Given the description of an element on the screen output the (x, y) to click on. 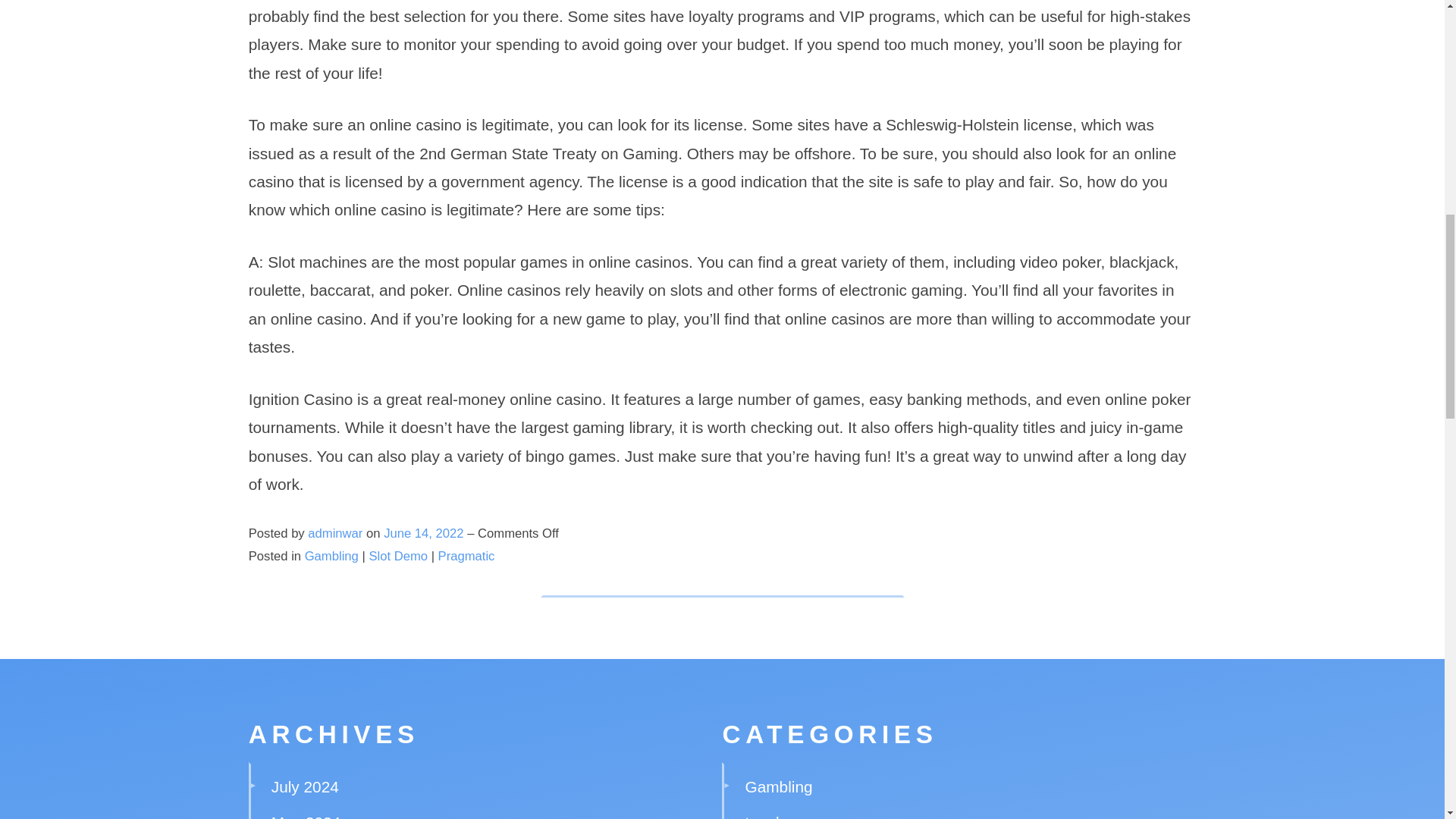
June 14, 2022 (425, 533)
adminwar (334, 533)
Gambling (331, 555)
July 2024 (304, 786)
Pragmatic (466, 555)
Slot Demo (399, 555)
May 2024 (305, 816)
